Given the description of an element on the screen output the (x, y) to click on. 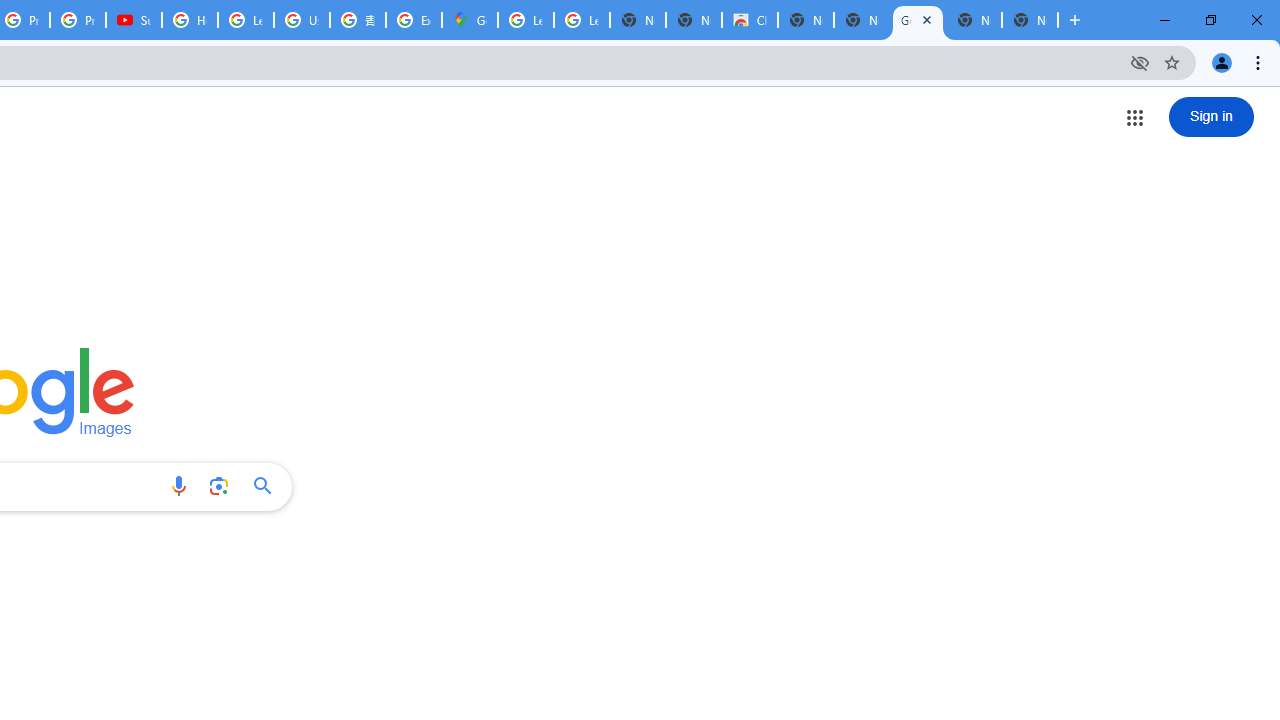
Explore new street-level details - Google Maps Help (413, 20)
New Tab (1030, 20)
Google Maps (469, 20)
How Chrome protects your passwords - Google Chrome Help (189, 20)
